Given the description of an element on the screen output the (x, y) to click on. 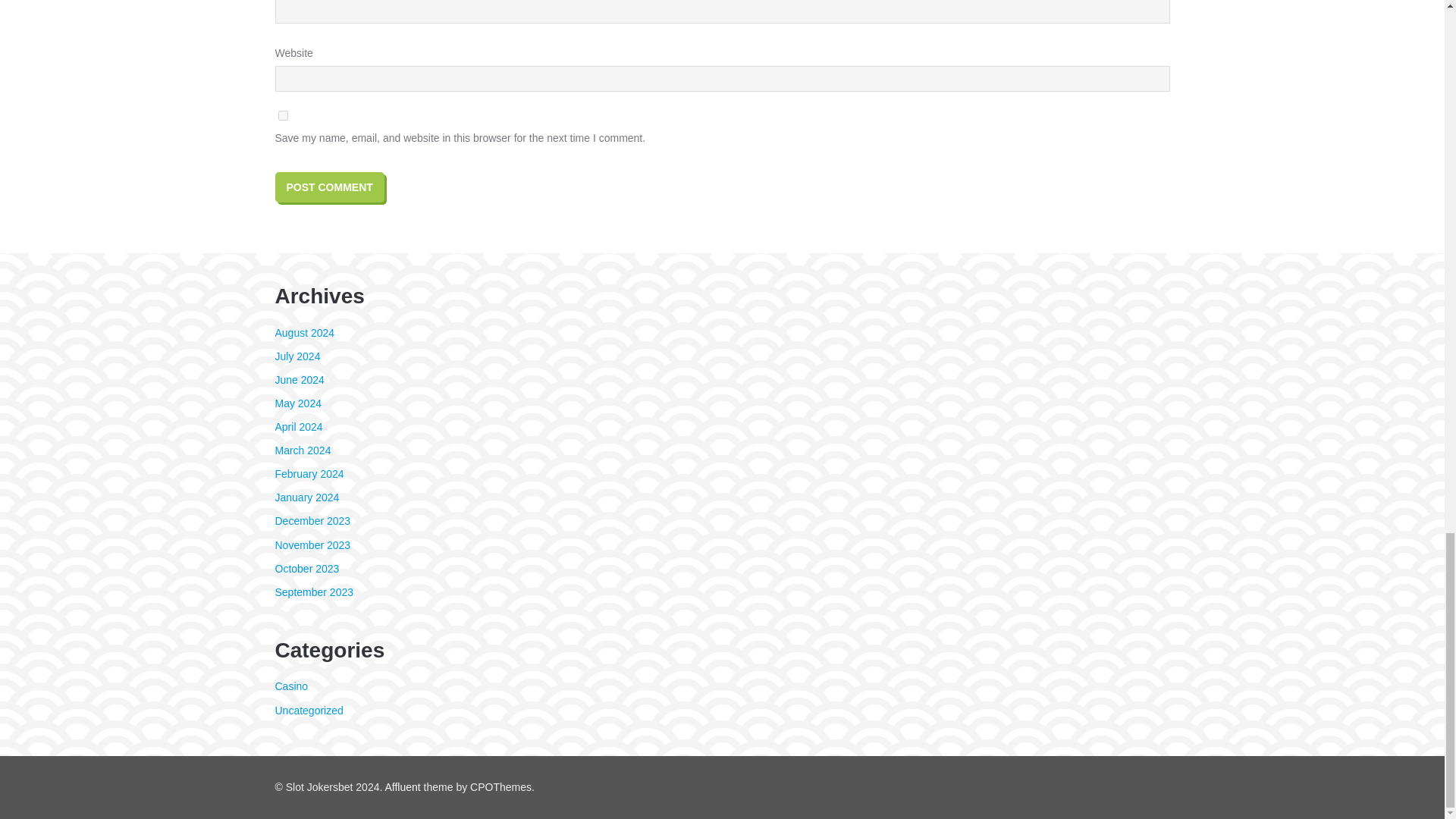
June 2024 (299, 379)
March 2024 (302, 450)
July 2024 (297, 356)
Affluent (402, 787)
Casino (291, 686)
yes (282, 115)
Post Comment (329, 186)
Post Comment (329, 186)
November 2023 (312, 544)
September 2023 (314, 592)
